Given the description of an element on the screen output the (x, y) to click on. 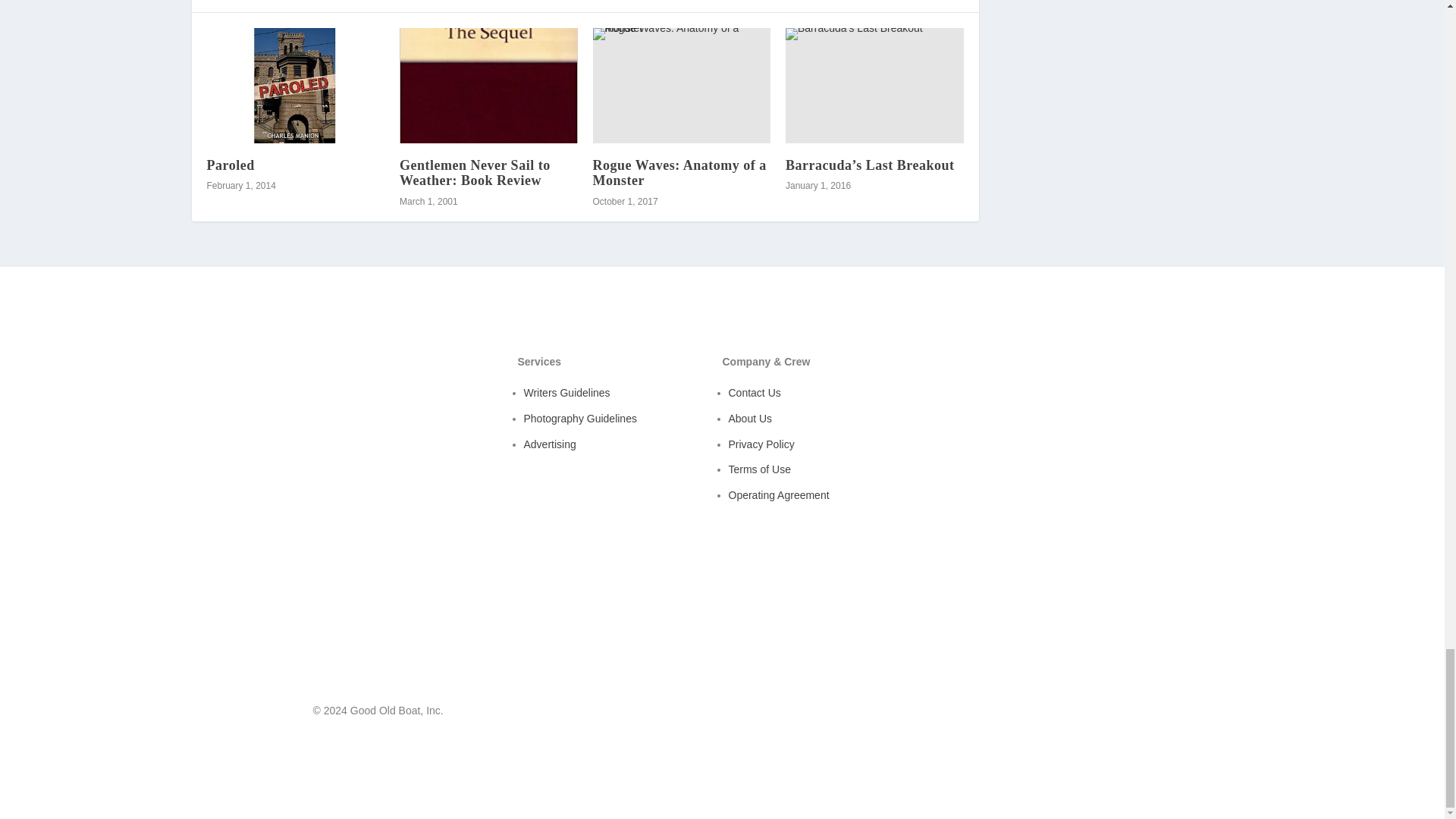
Gentlemen Never Sail to Weather: Book Review (488, 85)
Paroled (229, 165)
Follow on Youtube (1118, 713)
Follow on Facebook (1088, 713)
Gentlemen Never Sail to Weather: Book Review (474, 173)
Paroled (295, 85)
Rogue Waves: Anatomy of a Monster (679, 173)
Rogue Waves: Anatomy of a Monster (681, 85)
